Given the description of an element on the screen output the (x, y) to click on. 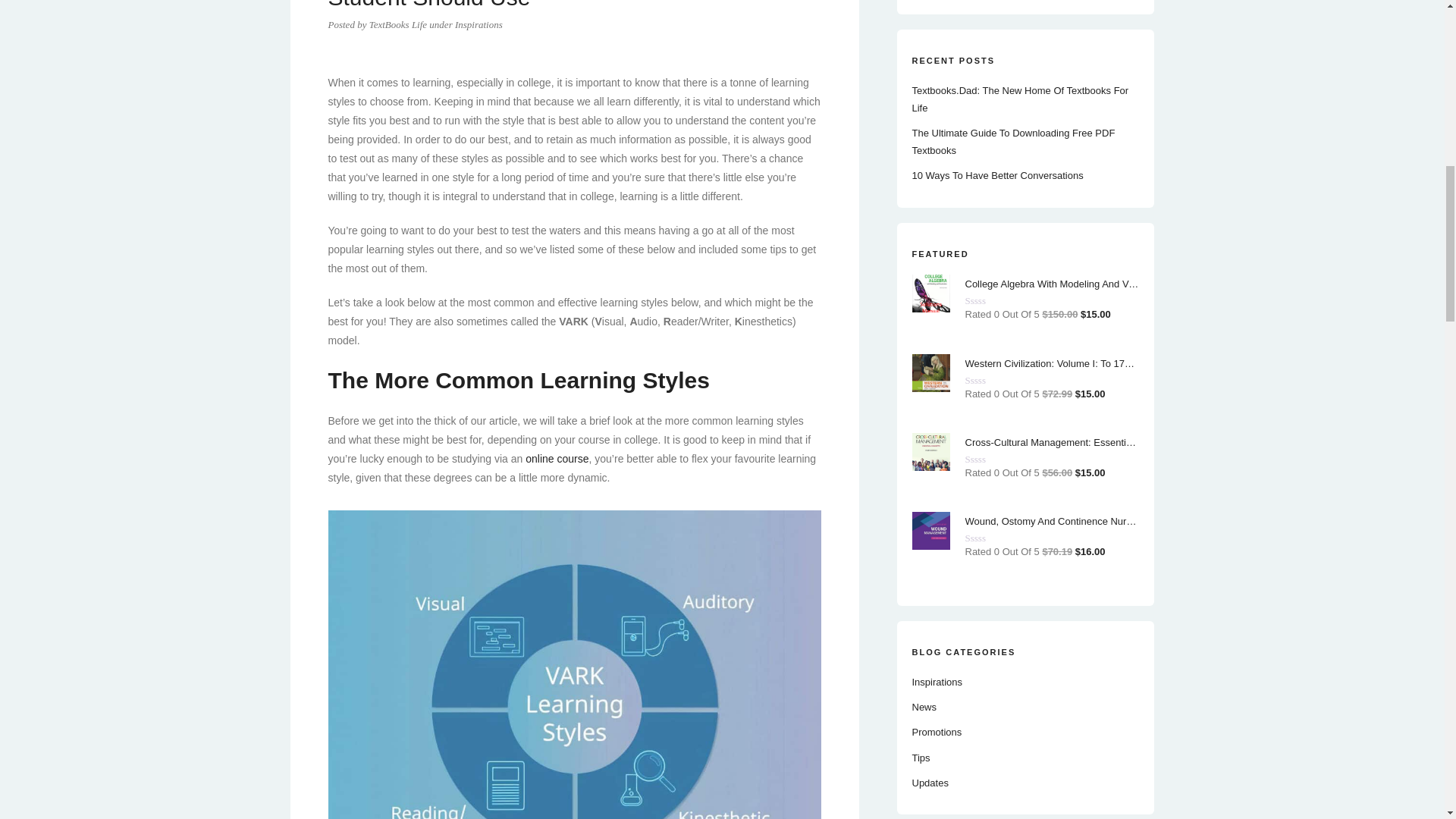
Textbooks.Dad: The New Home Of Textbooks For Life (1019, 99)
News (923, 706)
Inspirations (478, 24)
Rated 0 out of 5 (990, 459)
10 Ways To Have Better Conversations (997, 174)
Inspirations (935, 681)
online course (556, 458)
Rated 0 out of 5 (990, 379)
The Ultimate Guide To Downloading Free PDF Textbooks (1013, 141)
TextBooks Life (397, 24)
Rated 0 out of 5 (990, 300)
